Given the description of an element on the screen output the (x, y) to click on. 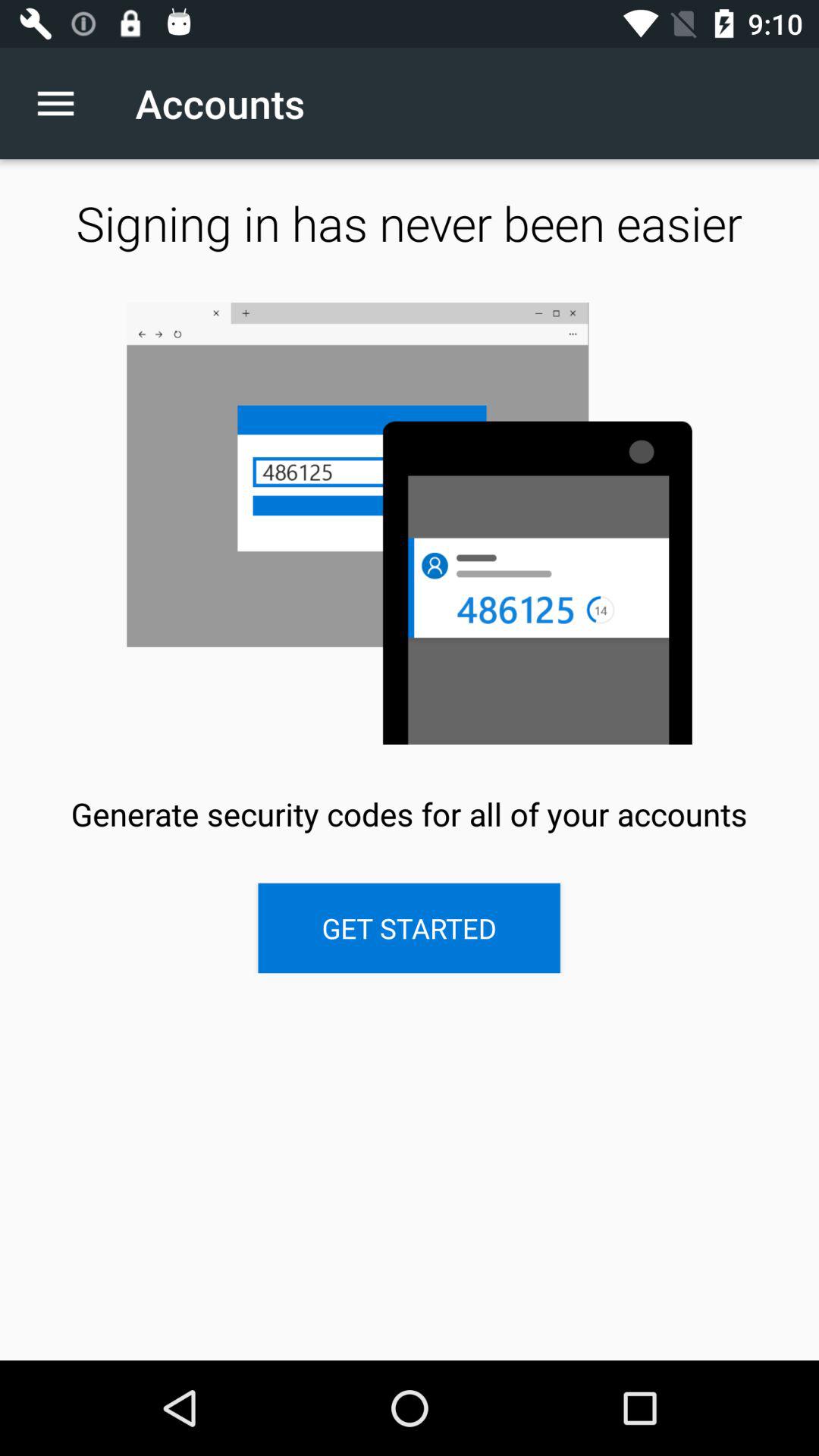
flip to get started button (409, 928)
